Given the description of an element on the screen output the (x, y) to click on. 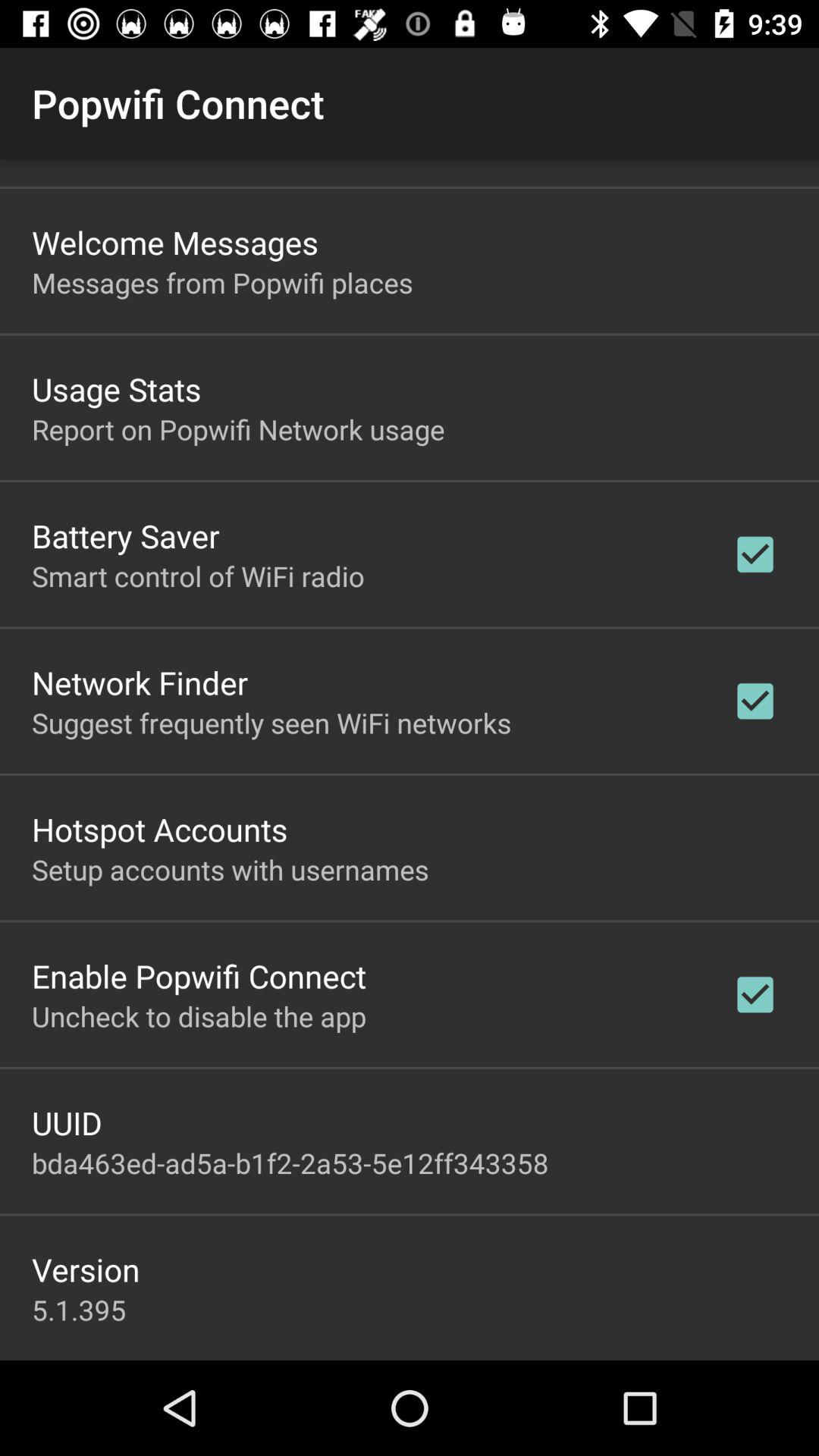
turn off the app above the smart control of (125, 535)
